Given the description of an element on the screen output the (x, y) to click on. 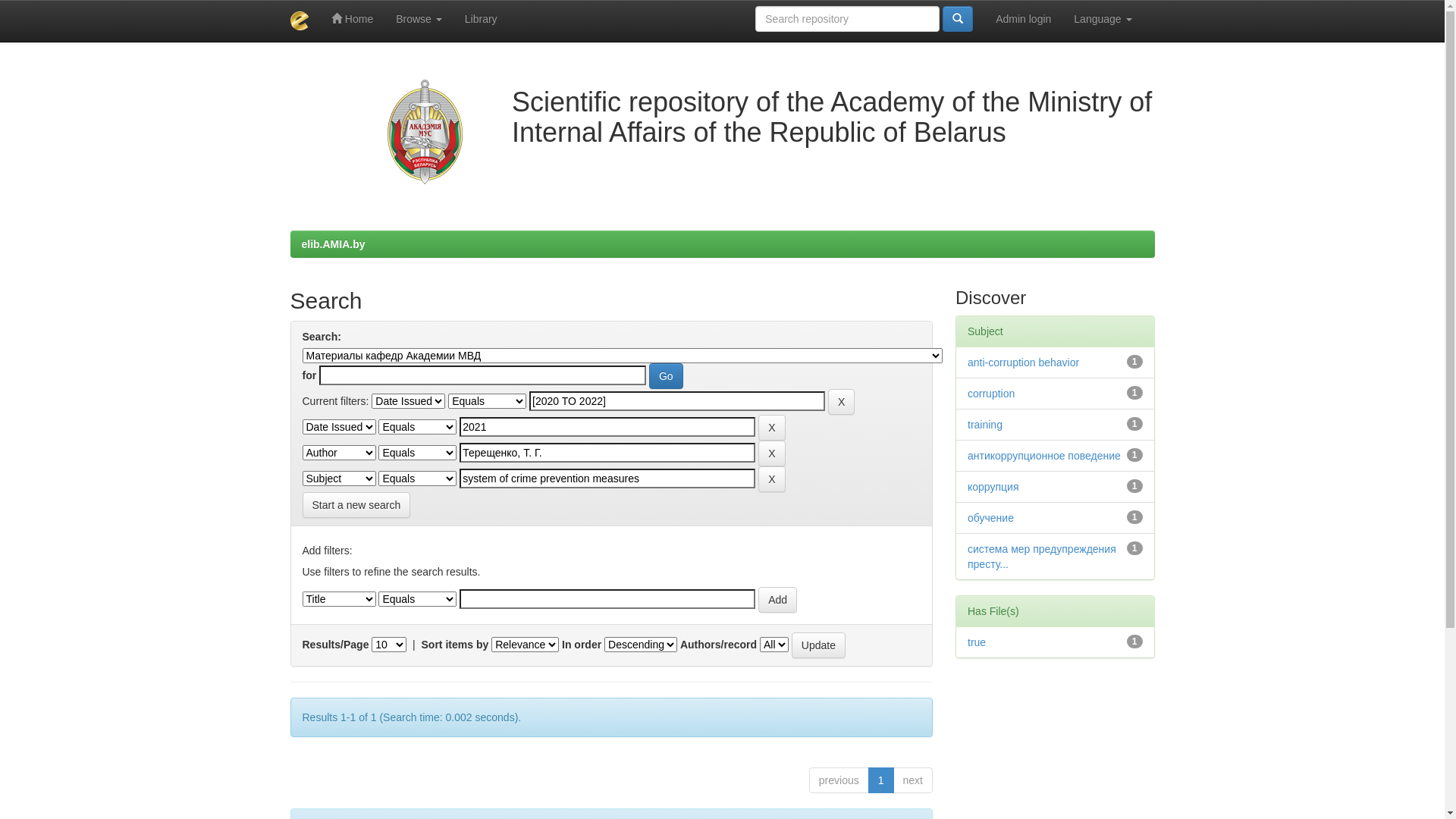
Home Element type: text (352, 18)
true Element type: text (976, 642)
X Element type: text (771, 427)
Update Element type: text (818, 645)
Browse Element type: text (418, 18)
Start a new search Element type: text (355, 504)
corruption Element type: text (990, 393)
X Element type: text (771, 479)
Add Element type: text (777, 599)
Go Element type: text (666, 376)
Library Element type: text (480, 18)
anti-corruption behavior Element type: text (1023, 362)
training Element type: text (984, 424)
X Element type: text (771, 453)
elib.AMIA.by Element type: text (333, 244)
Admin login Element type: text (1023, 18)
Language Element type: text (1102, 18)
X Element type: text (841, 401)
